Given the description of an element on the screen output the (x, y) to click on. 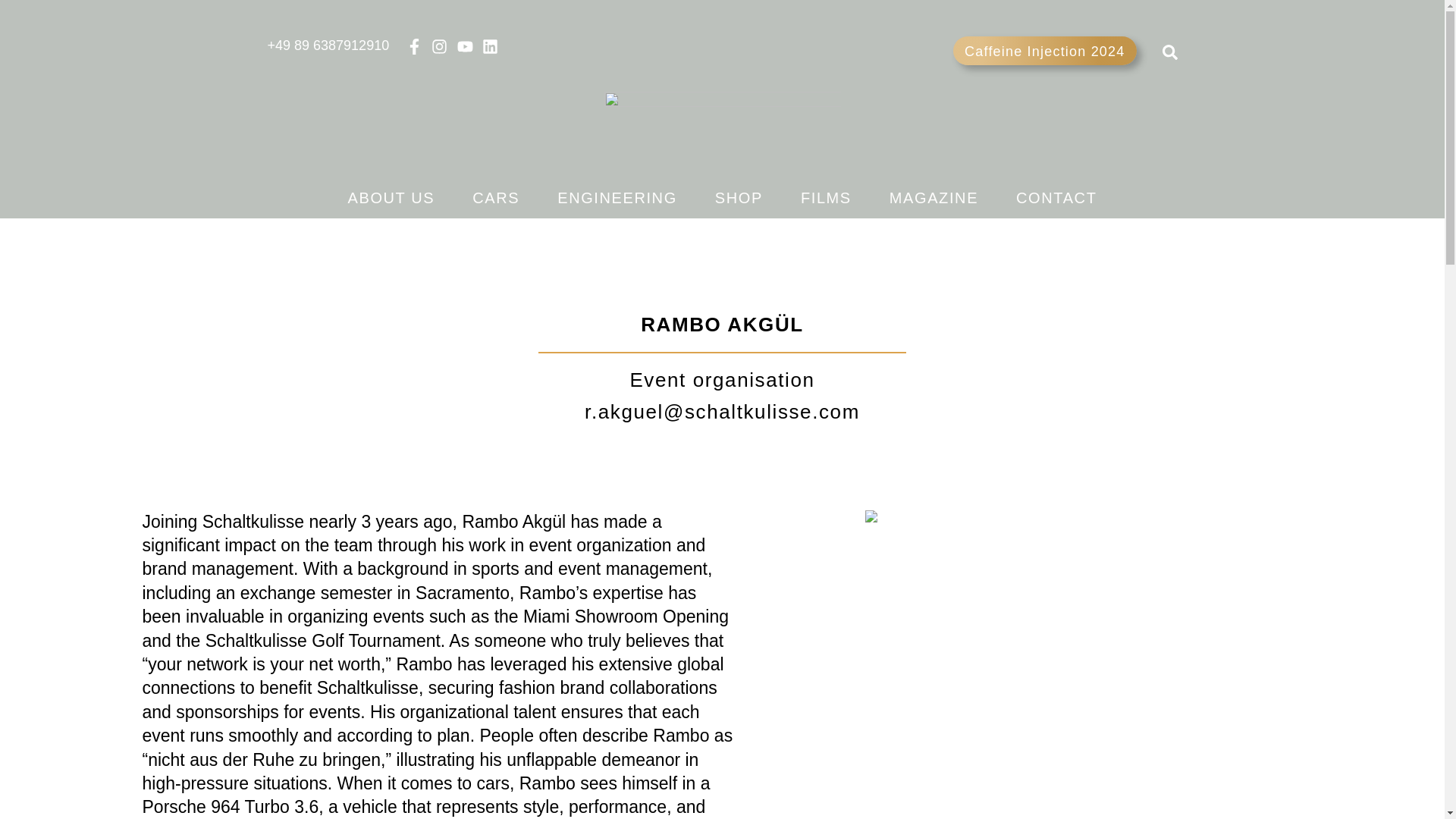
Caffeine Injection 2024 (1044, 50)
ABOUT US (391, 198)
CARS (495, 198)
